Given the description of an element on the screen output the (x, y) to click on. 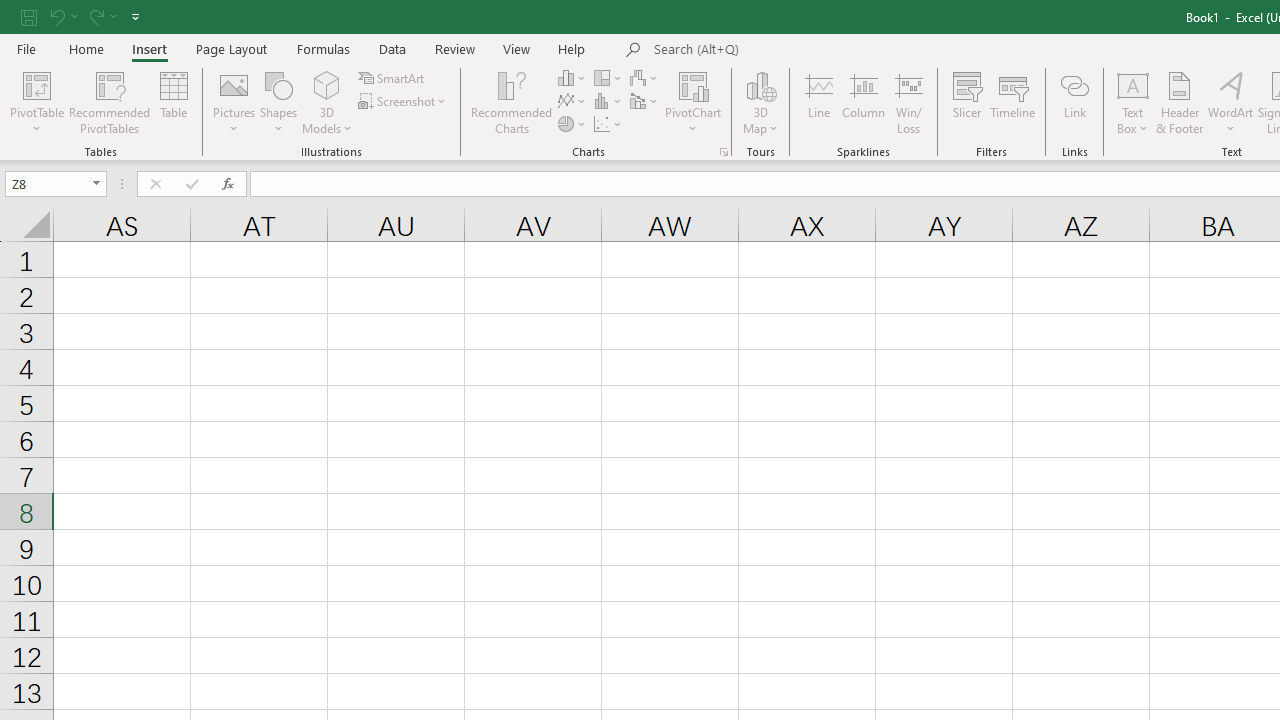
PivotChart (693, 84)
Slicer... (966, 102)
3D Models (326, 102)
PivotTable (36, 84)
3D Models (326, 84)
3D Map (760, 84)
Insert Statistic Chart (609, 101)
Timeline (1013, 102)
Quick Access Toolbar (82, 16)
